Given the description of an element on the screen output the (x, y) to click on. 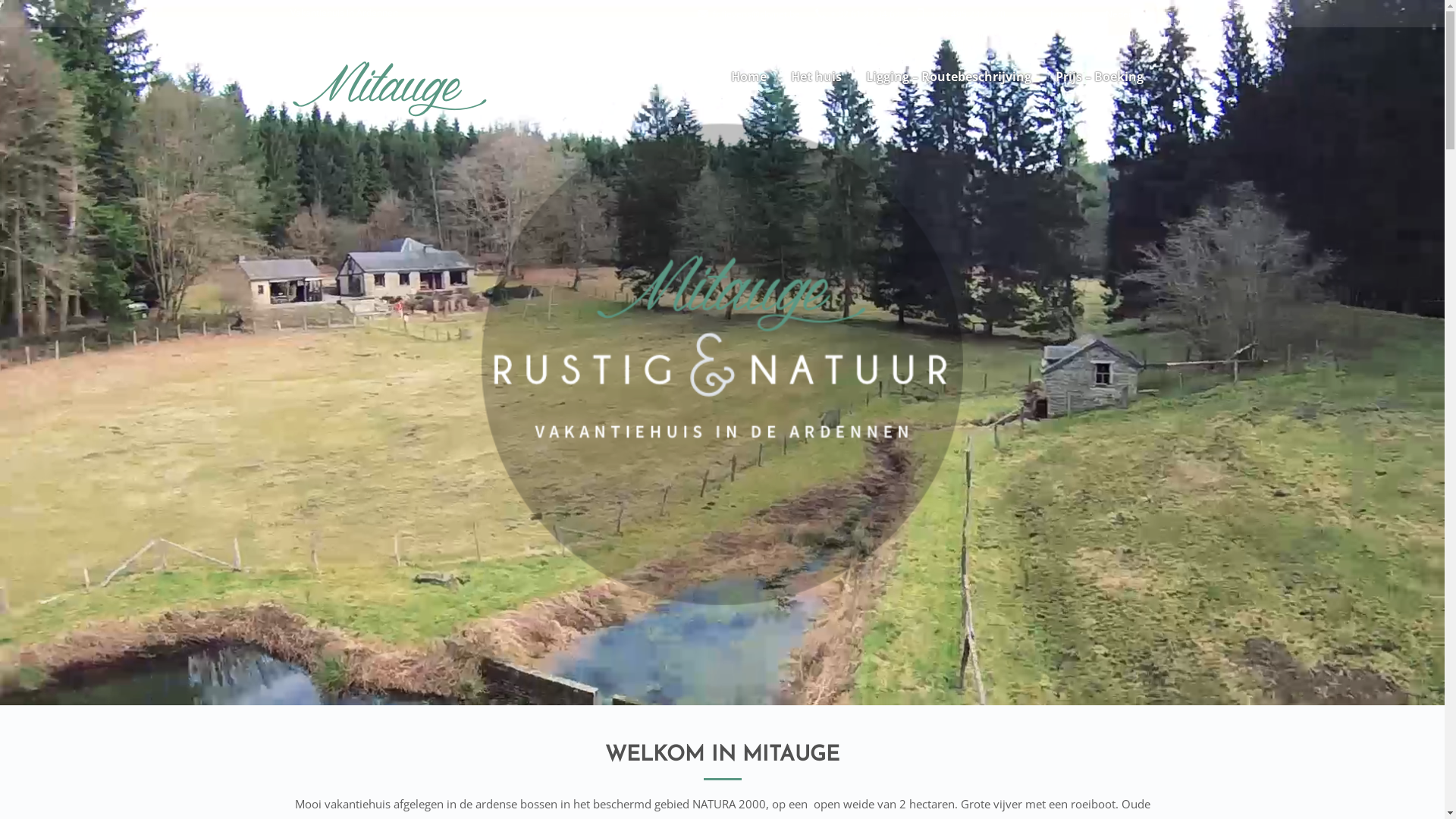
Het huis Element type: text (815, 76)
fr.lievens@skynet.be Element type: text (748, 13)
+ 32 495 23 37 70 Element type: text (959, 13)
+ 32 61 22 34 63 Element type: text (856, 13)
Home Element type: text (748, 76)
Nederlands Element type: text (1127, 13)
